Given the description of an element on the screen output the (x, y) to click on. 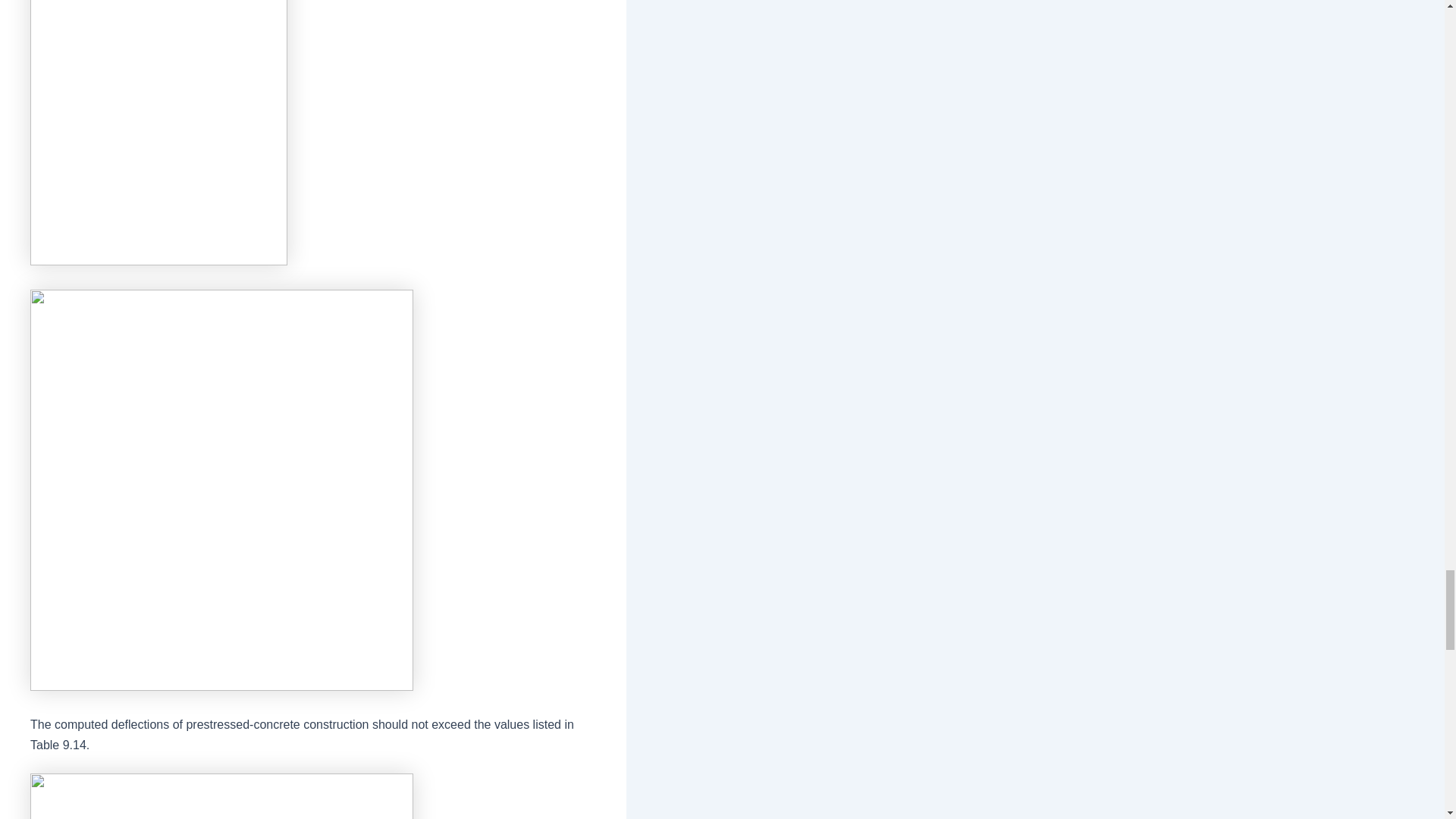
FIGURE 9.22 Chart for determination of moment of inertia (158, 132)
